Given the description of an element on the screen output the (x, y) to click on. 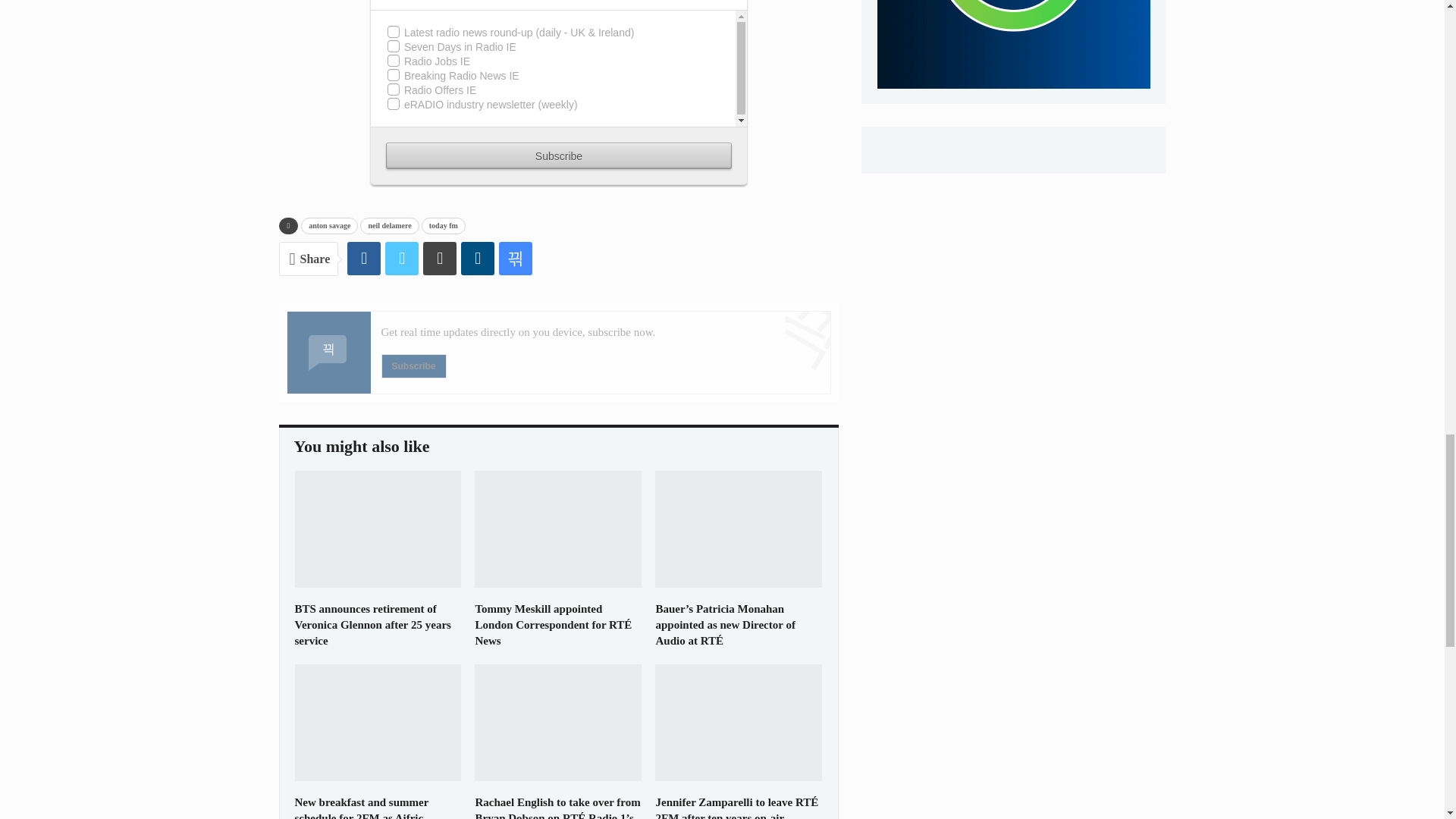
anton savage (329, 225)
today fm (443, 225)
neil delamere (389, 225)
